Given the description of an element on the screen output the (x, y) to click on. 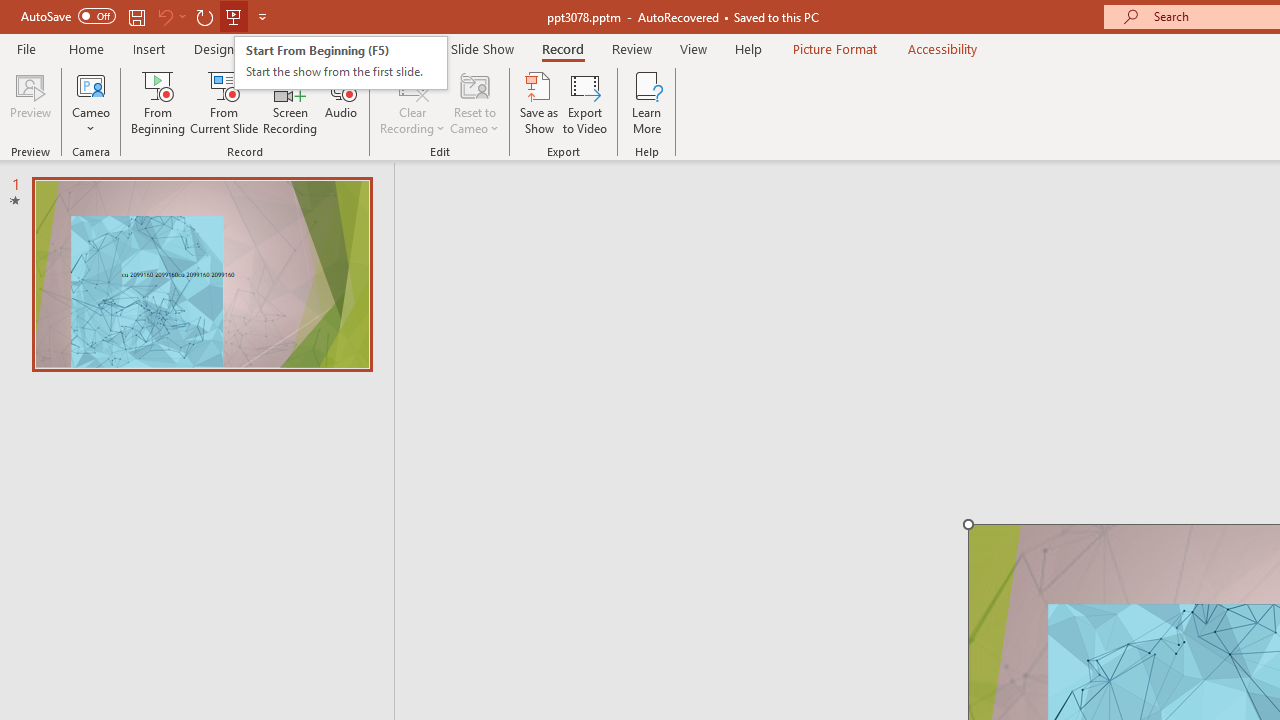
Picture Format (834, 48)
